Given the description of an element on the screen output the (x, y) to click on. 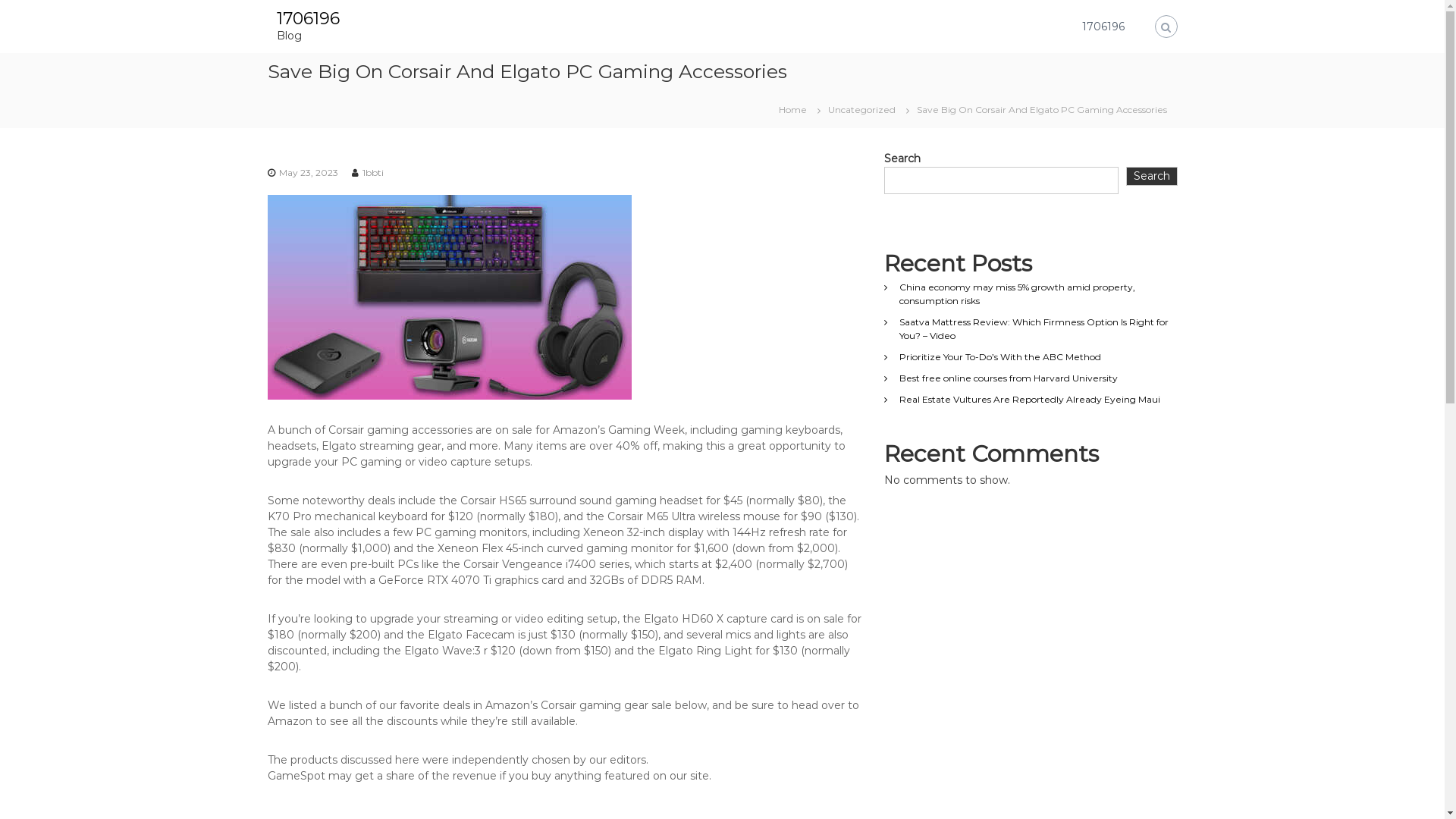
Uncategorized Element type: text (861, 108)
Search Element type: text (1151, 176)
Home Element type: text (791, 108)
Real Estate Vultures Are Reportedly Already Eyeing Maui Element type: text (1029, 398)
May 23, 2023 Element type: text (308, 172)
1706196 Element type: text (1102, 26)
1706196 Element type: text (307, 17)
1bbti Element type: text (372, 172)
Best free online courses from Harvard University Element type: text (1008, 377)
